Given the description of an element on the screen output the (x, y) to click on. 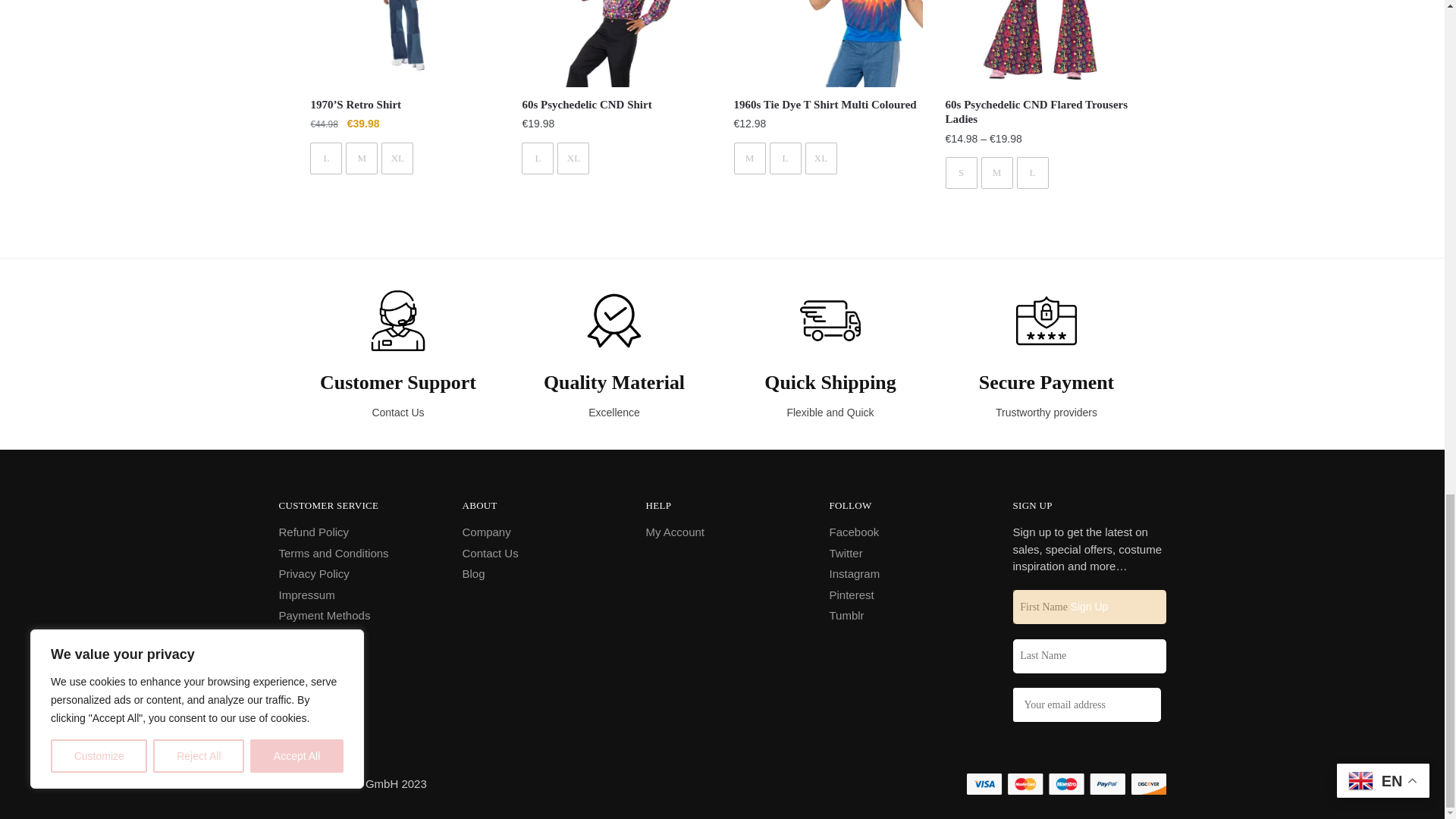
XL (397, 158)
60s Psychedelic CND Shirt (615, 43)
L (326, 158)
Sign Up (1089, 606)
M (361, 158)
